Given the description of an element on the screen output the (x, y) to click on. 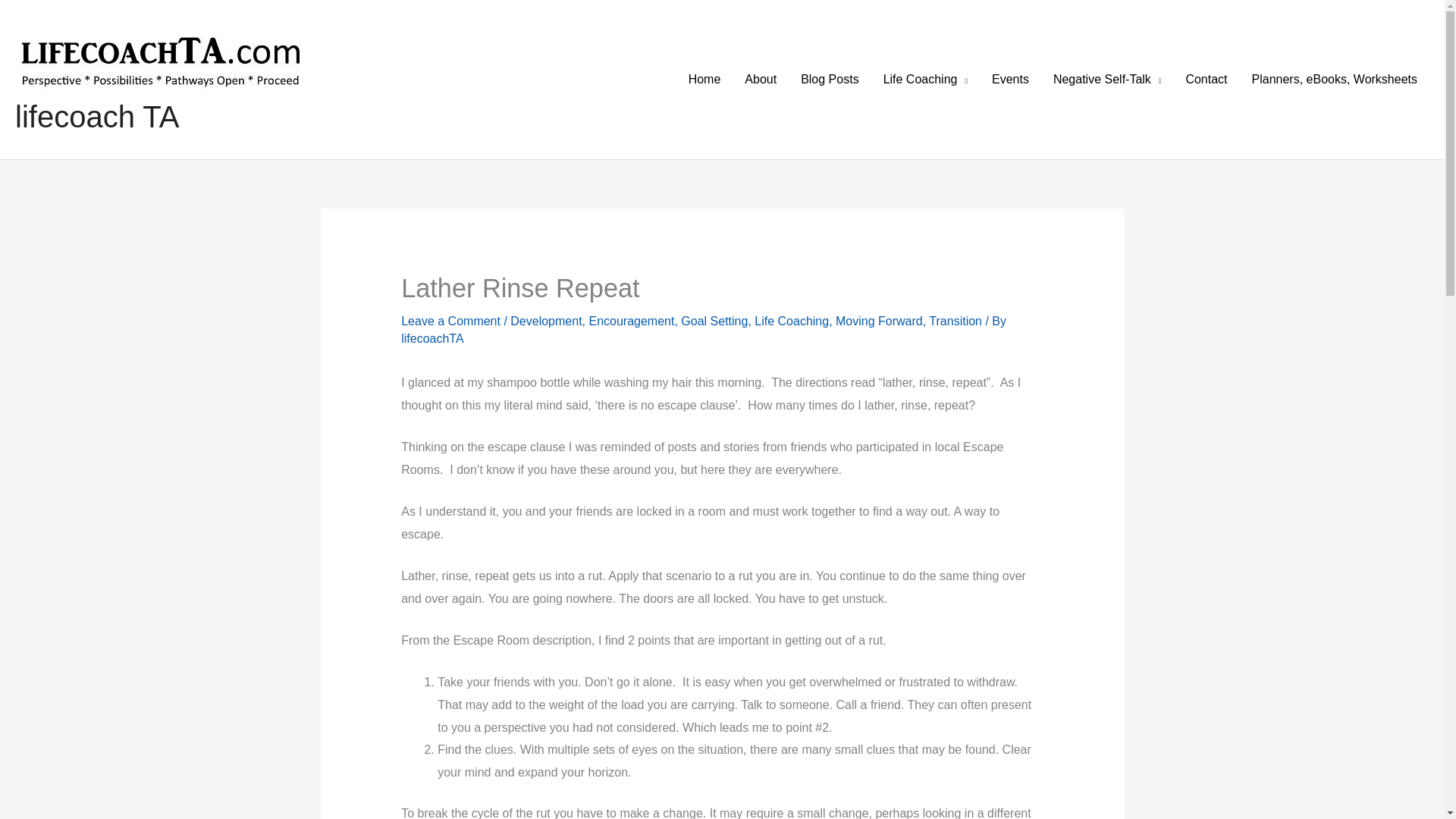
Transition (954, 320)
Contact (1206, 79)
lifecoachTA (432, 338)
Events (1010, 79)
About (760, 79)
Negative Self-Talk (1107, 79)
Encouragement (631, 320)
Blog Posts (829, 79)
Leave a Comment (450, 320)
Home (705, 79)
Moving Forward (879, 320)
Life Coaching (924, 79)
Development (545, 320)
Life Coaching (791, 320)
lifecoach TA (96, 116)
